Given the description of an element on the screen output the (x, y) to click on. 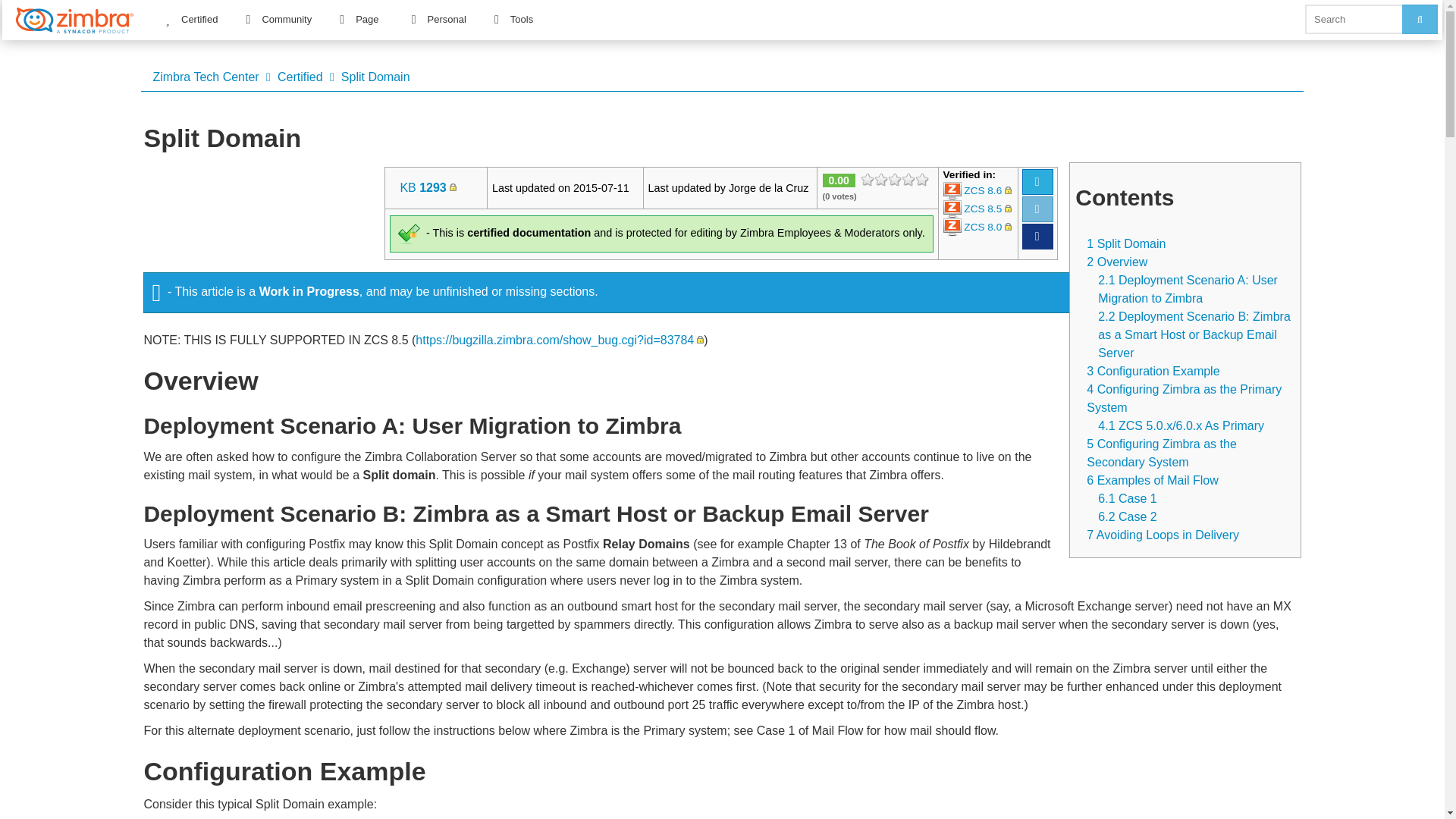
Personal (437, 19)
Tools (512, 19)
3 Configuration Example (1153, 369)
Page (358, 19)
Community (277, 19)
2.1 Deployment Scenario A: User Migration to Zimbra (1187, 287)
6 Examples of Mail Flow (1151, 479)
Certified (190, 19)
Main Page (205, 76)
6.2 Case 2 (1126, 515)
Certified (300, 76)
2 Overview (1116, 260)
Zimbra Tech Center (205, 76)
Category:Certified (300, 76)
